Given the description of an element on the screen output the (x, y) to click on. 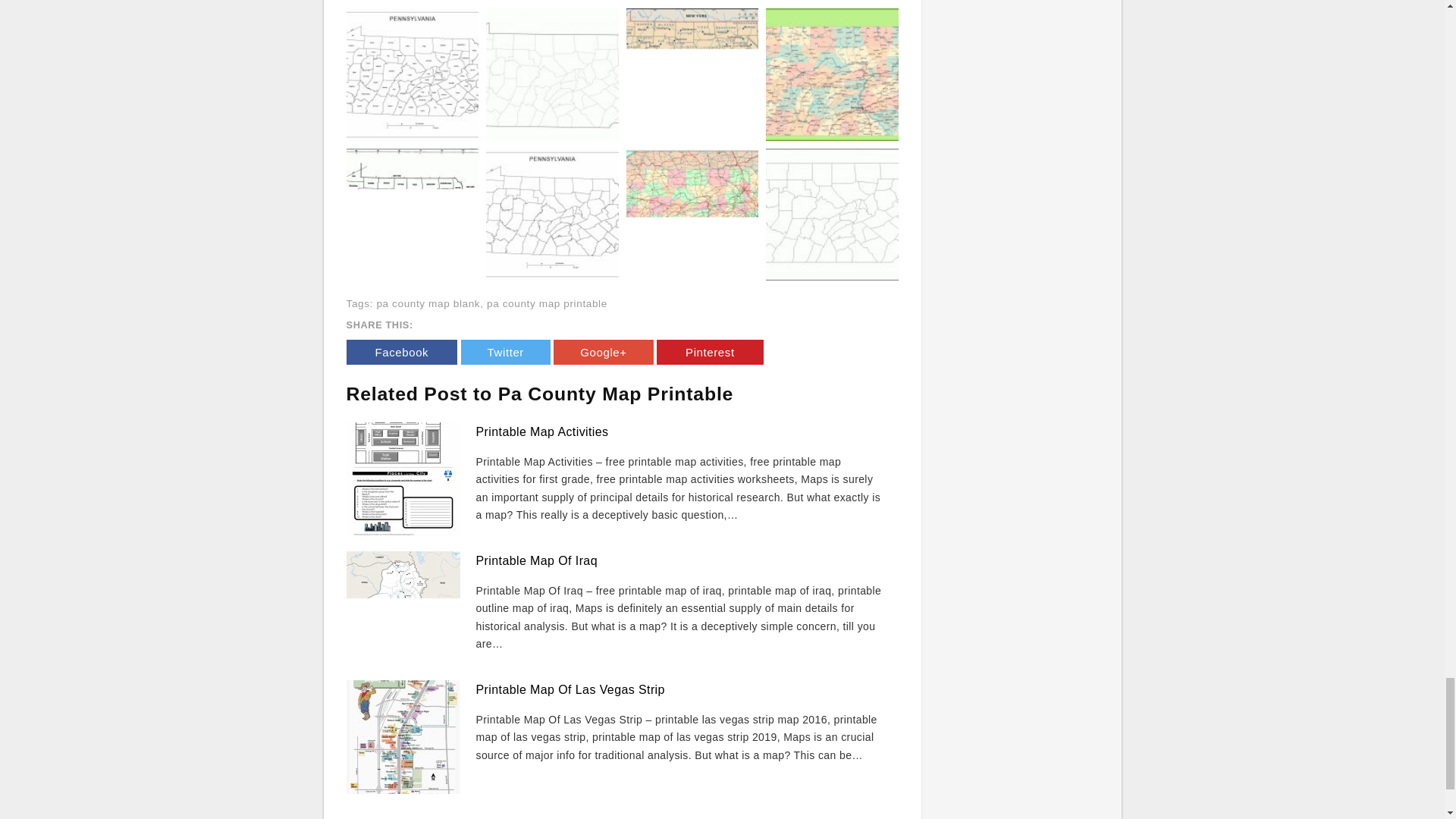
Twitter (505, 351)
Pennsylvania Labeled Map For Pa County Map Printable (412, 74)
Printable Map Of Las Vegas Strip (570, 689)
Printable Map Activities (542, 431)
pa county map printable (546, 303)
Pennsylvania Labeled Map For Pa County Map Printable (412, 73)
pa county map blank (427, 303)
Facebook (401, 351)
